Given the description of an element on the screen output the (x, y) to click on. 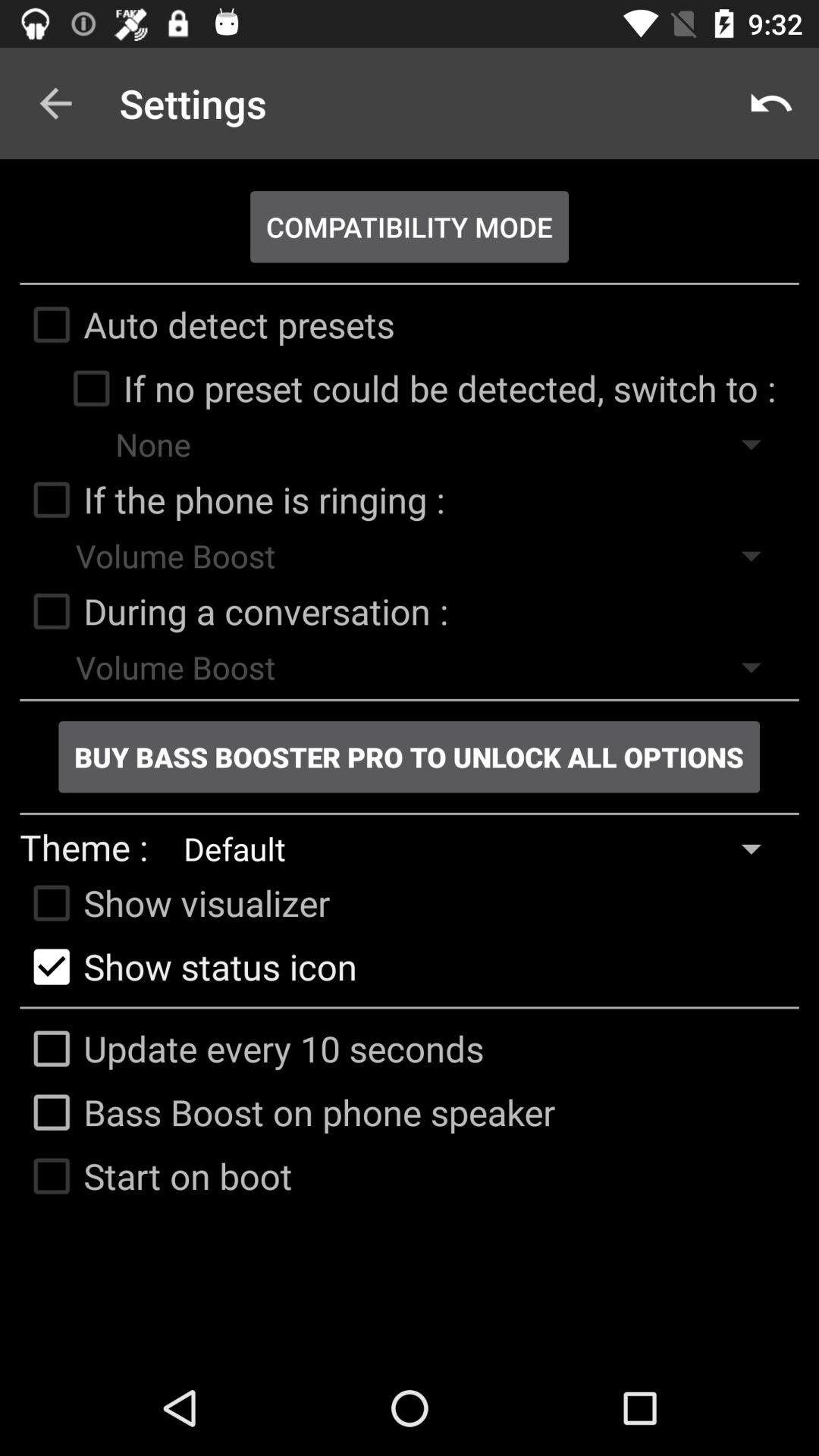
press icon at the top right corner (771, 103)
